Given the description of an element on the screen output the (x, y) to click on. 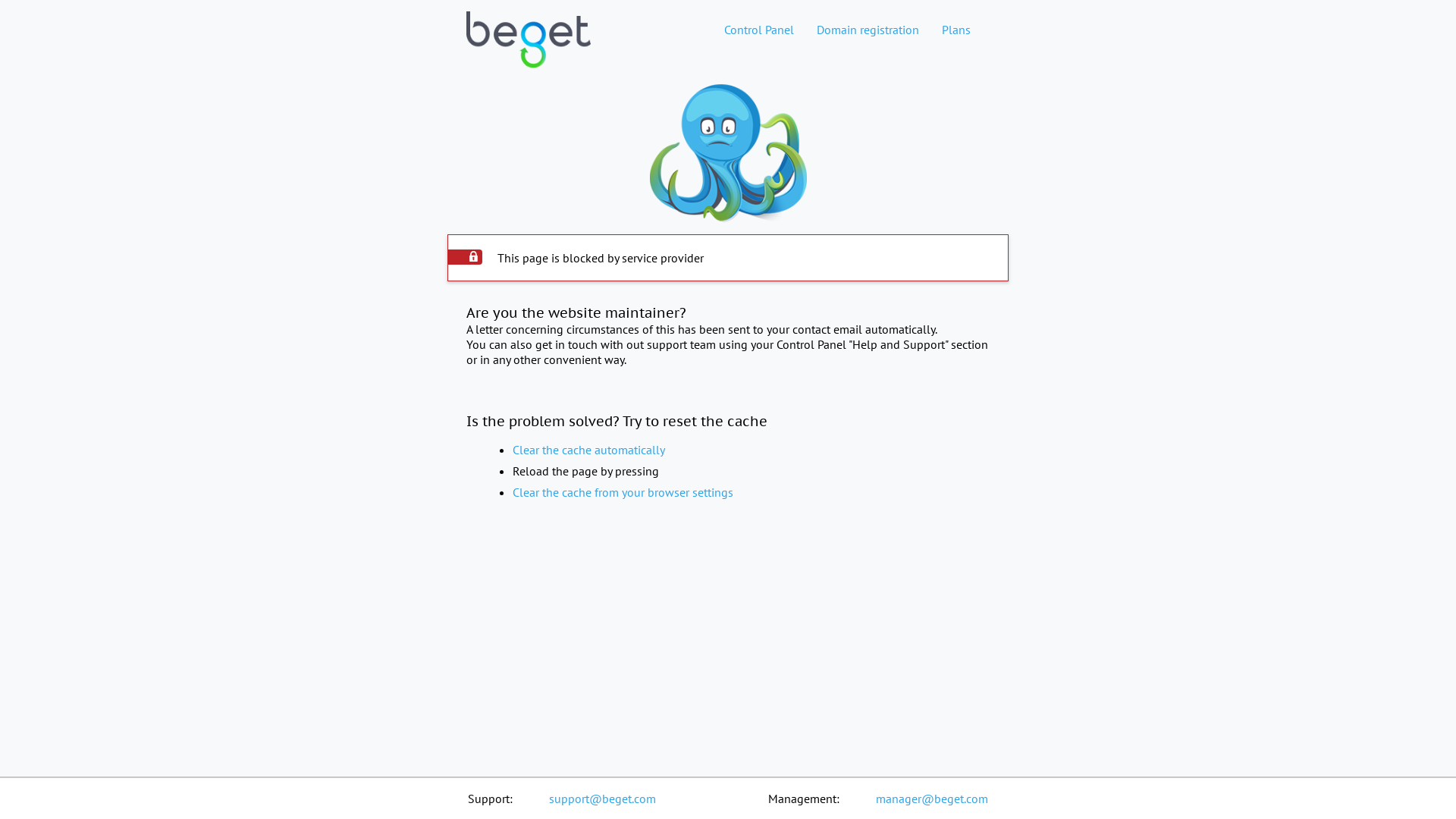
manager@beget.com Element type: text (931, 798)
Control Panel Element type: text (758, 29)
Clear the cache automatically Element type: text (588, 449)
support@beget.com Element type: text (602, 798)
Domain registration Element type: text (867, 29)
Clear the cache from your browser settings Element type: text (622, 491)
Plans Element type: text (956, 29)
Web hosting home page Element type: hover (528, 51)
